Given the description of an element on the screen output the (x, y) to click on. 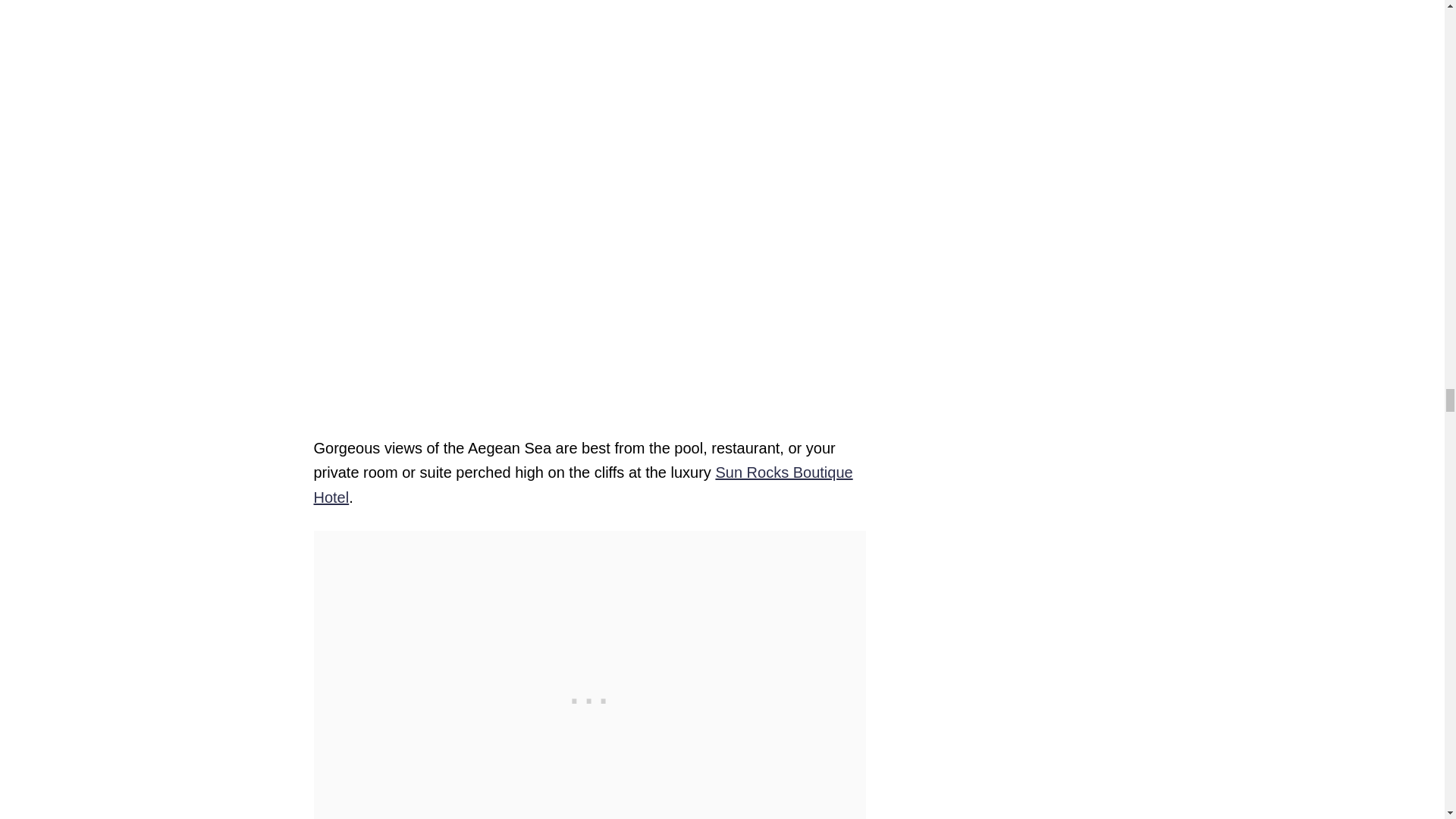
Sun Rocks Boutique Hotel (583, 485)
